Given the description of an element on the screen output the (x, y) to click on. 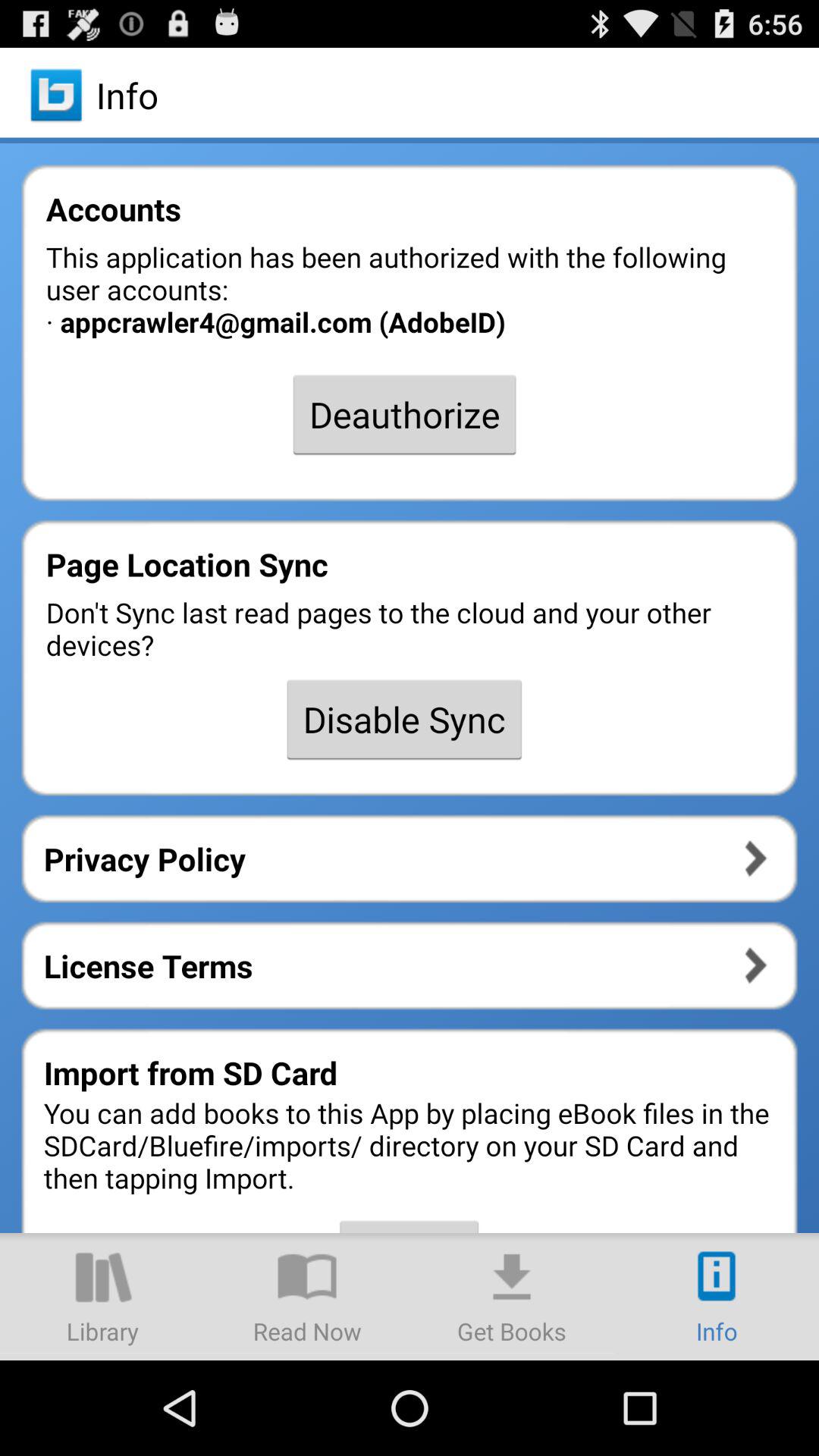
launch app above the page location sync icon (404, 414)
